Given the description of an element on the screen output the (x, y) to click on. 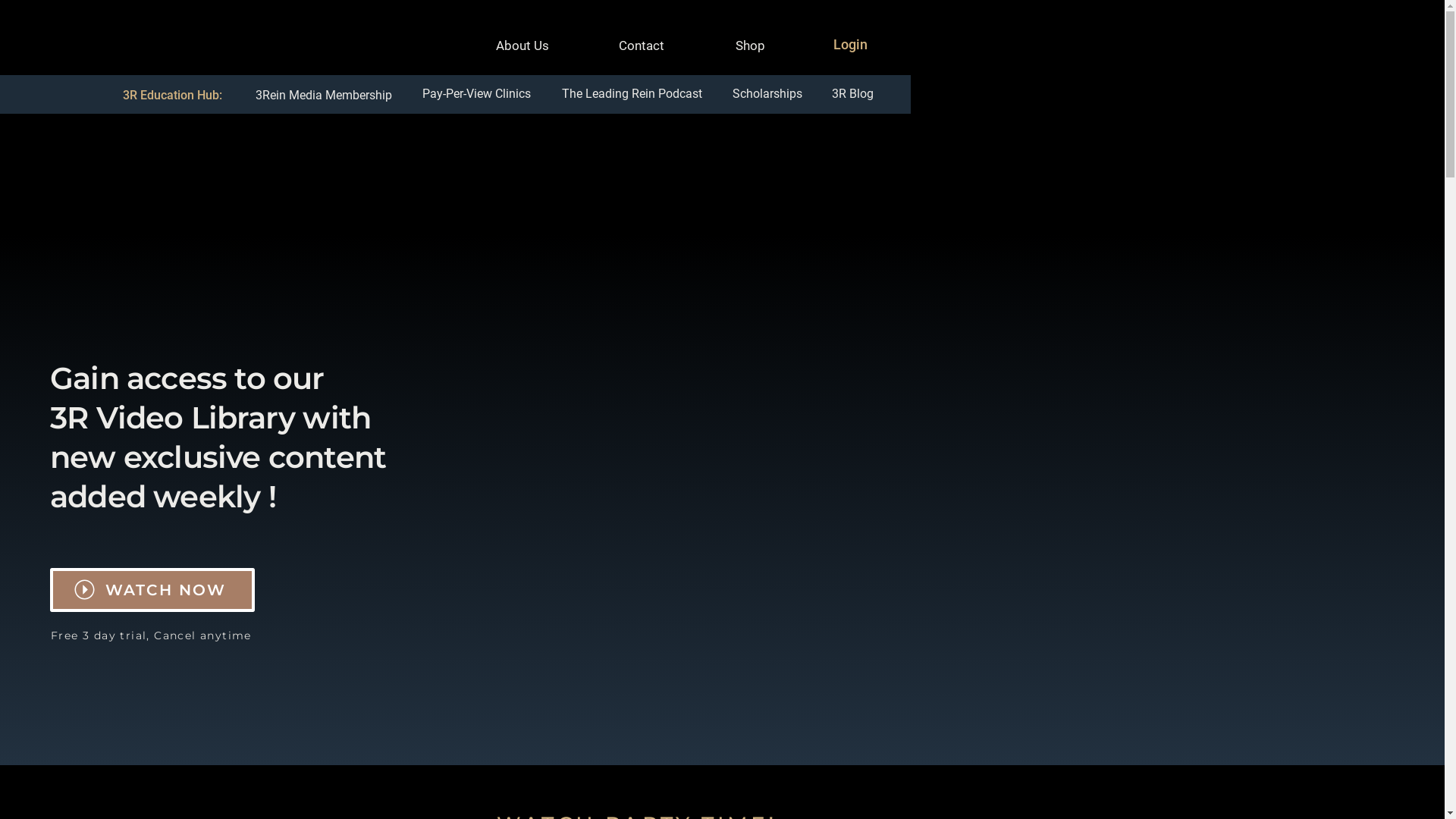
Pay-Per-View Clinics Element type: text (476, 93)
3Rein Media Membership Element type: text (324, 94)
3R Blog Element type: text (852, 93)
The Leading Rein Podcast Element type: text (631, 93)
About Us Element type: text (522, 43)
Shop Element type: text (749, 43)
Scholarships Element type: text (767, 93)
WATCH NOW Element type: text (165, 590)
Login Element type: text (851, 42)
Contact Element type: text (642, 43)
